Given the description of an element on the screen output the (x, y) to click on. 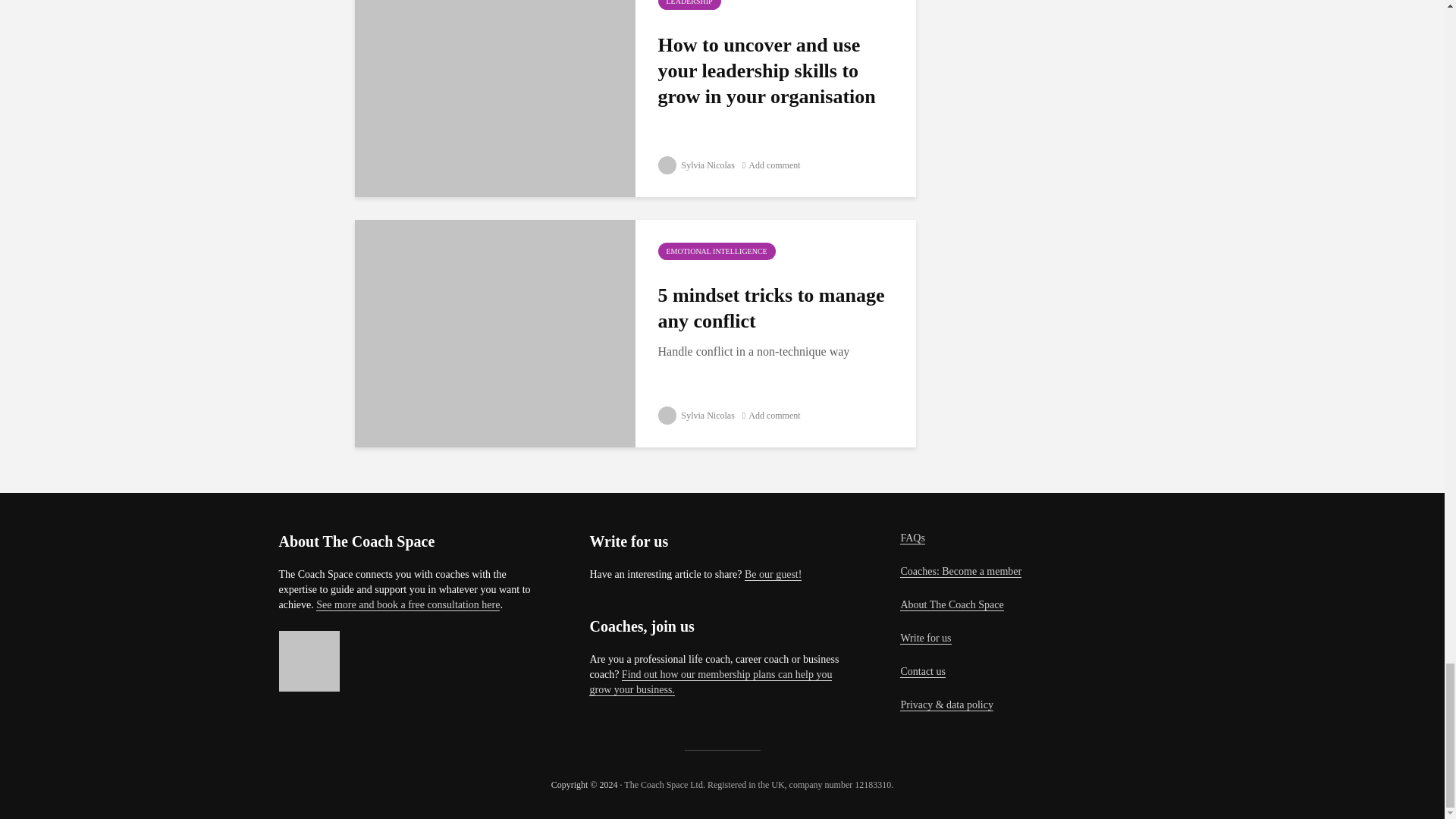
LEADERSHIP (689, 4)
5 mindset tricks to manage any conflict (494, 331)
